Given the description of an element on the screen output the (x, y) to click on. 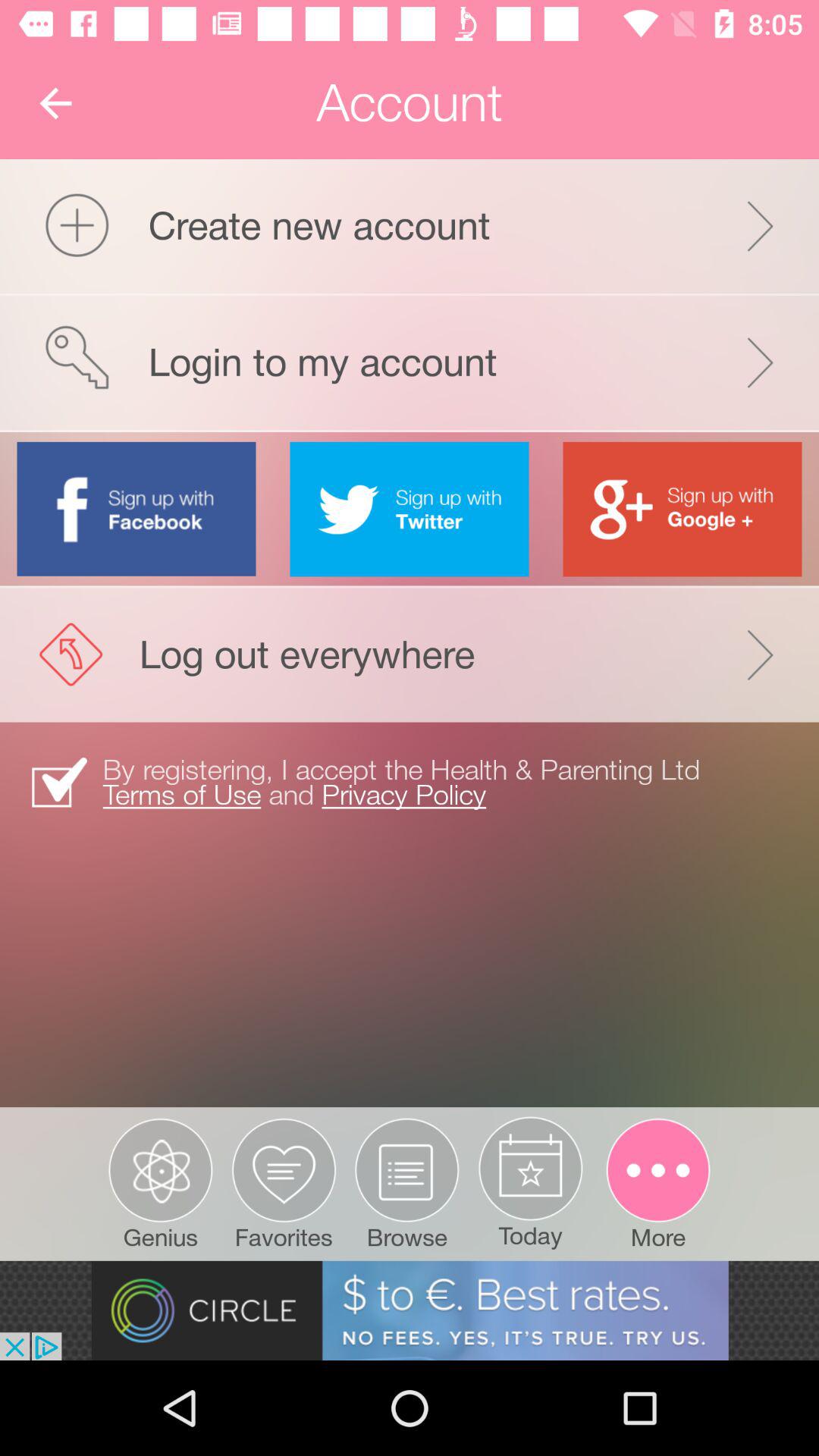
go to facebookpage (136, 508)
